Given the description of an element on the screen output the (x, y) to click on. 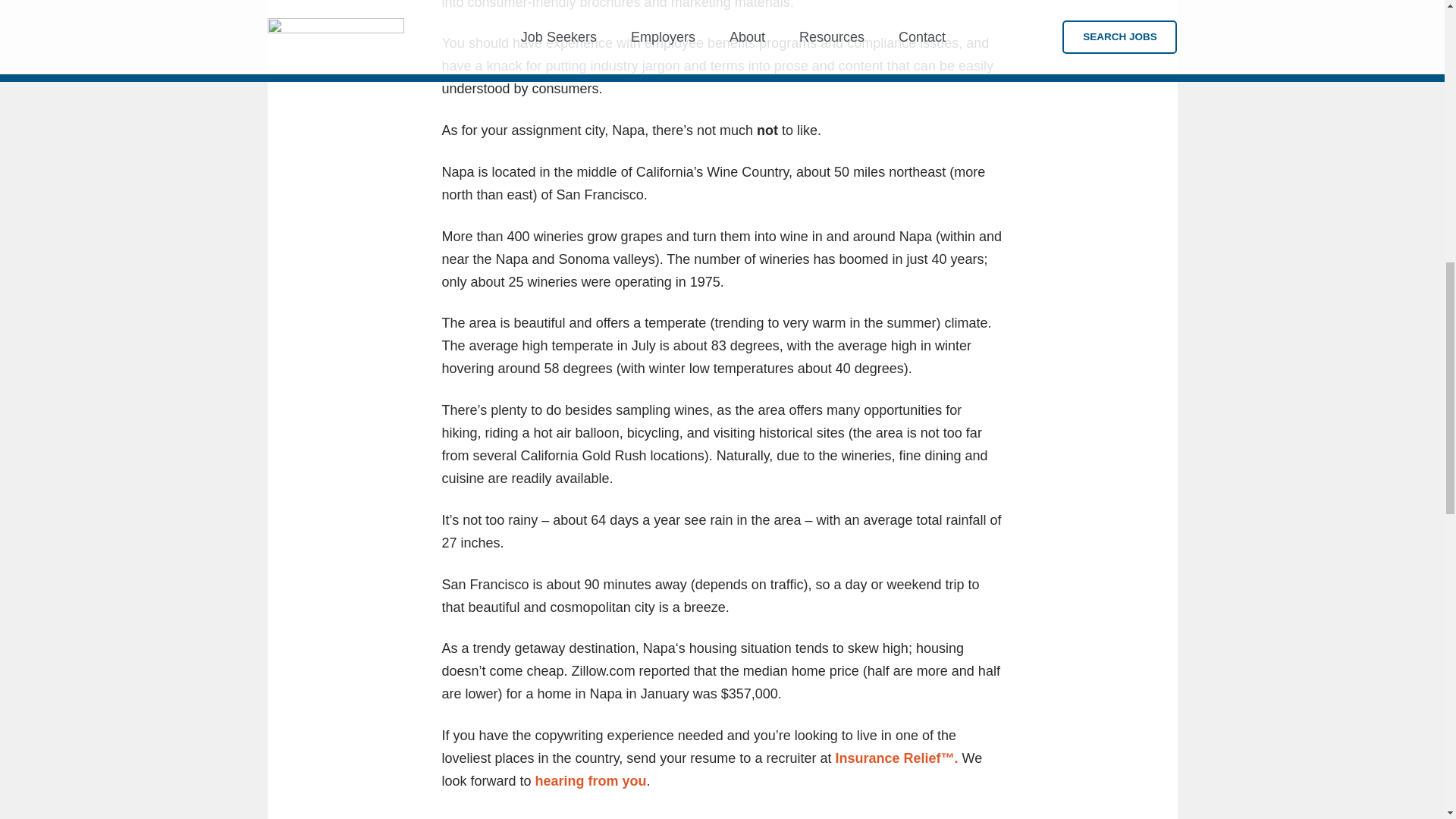
hearing from you (590, 780)
Click here to send us your resume. (590, 780)
Click here to go to our homepage. (896, 758)
